Given the description of an element on the screen output the (x, y) to click on. 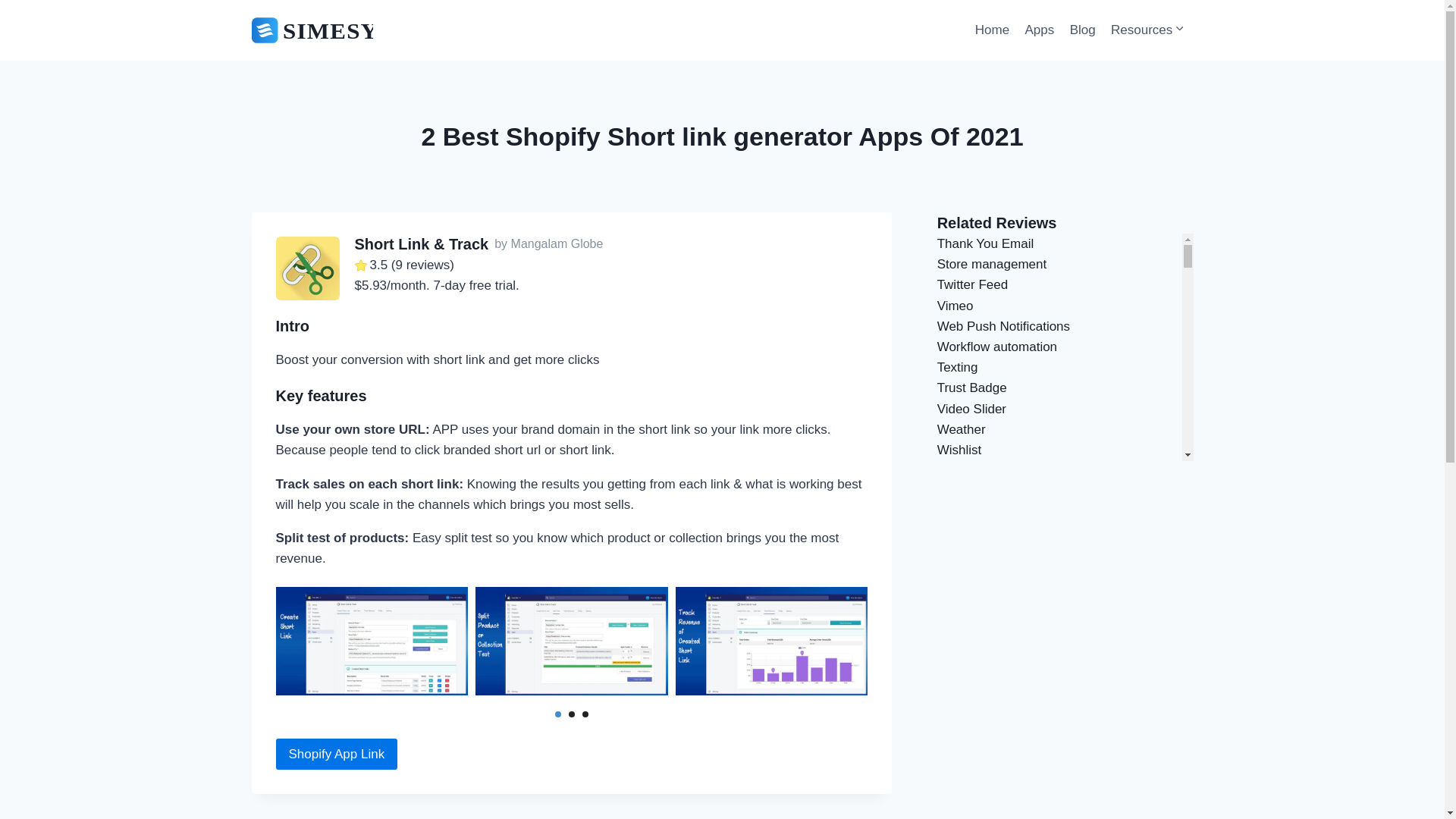
Create Short link - Short url (372, 641)
3 (585, 714)
1 (557, 714)
Texting (957, 367)
Thank You Email (985, 243)
Twitter Feed (973, 284)
Apps (1038, 30)
Vimeo (955, 305)
Resources (1148, 30)
Workflow automation (997, 346)
Video Slider (971, 409)
2 (572, 714)
Web Push Notifications (1003, 326)
Shopify App Link (336, 753)
Trust Badge (972, 387)
